Given the description of an element on the screen output the (x, y) to click on. 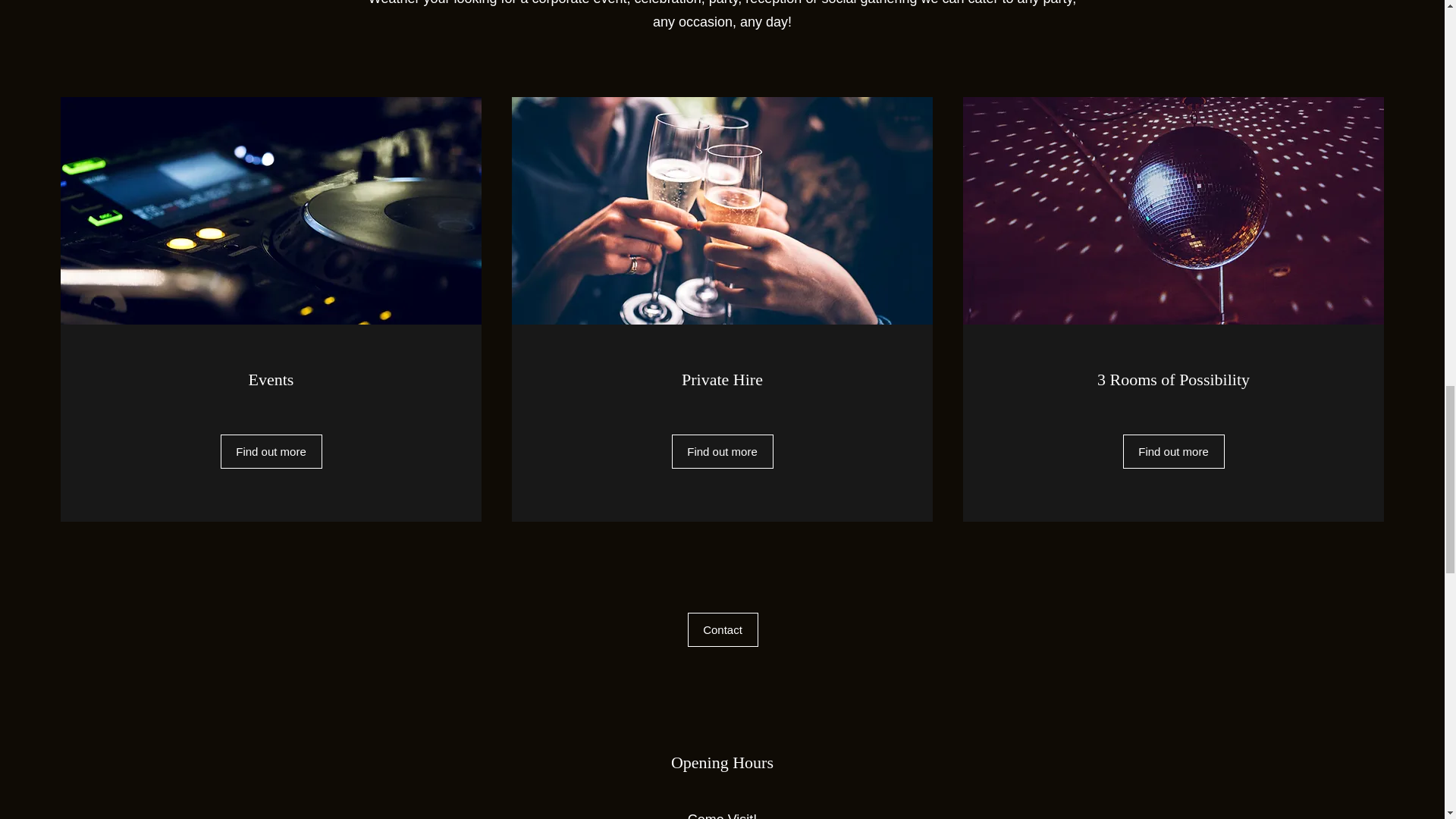
Find out more (270, 451)
Find out more (722, 451)
Find out more (1173, 451)
Contact (722, 629)
